Given the description of an element on the screen output the (x, y) to click on. 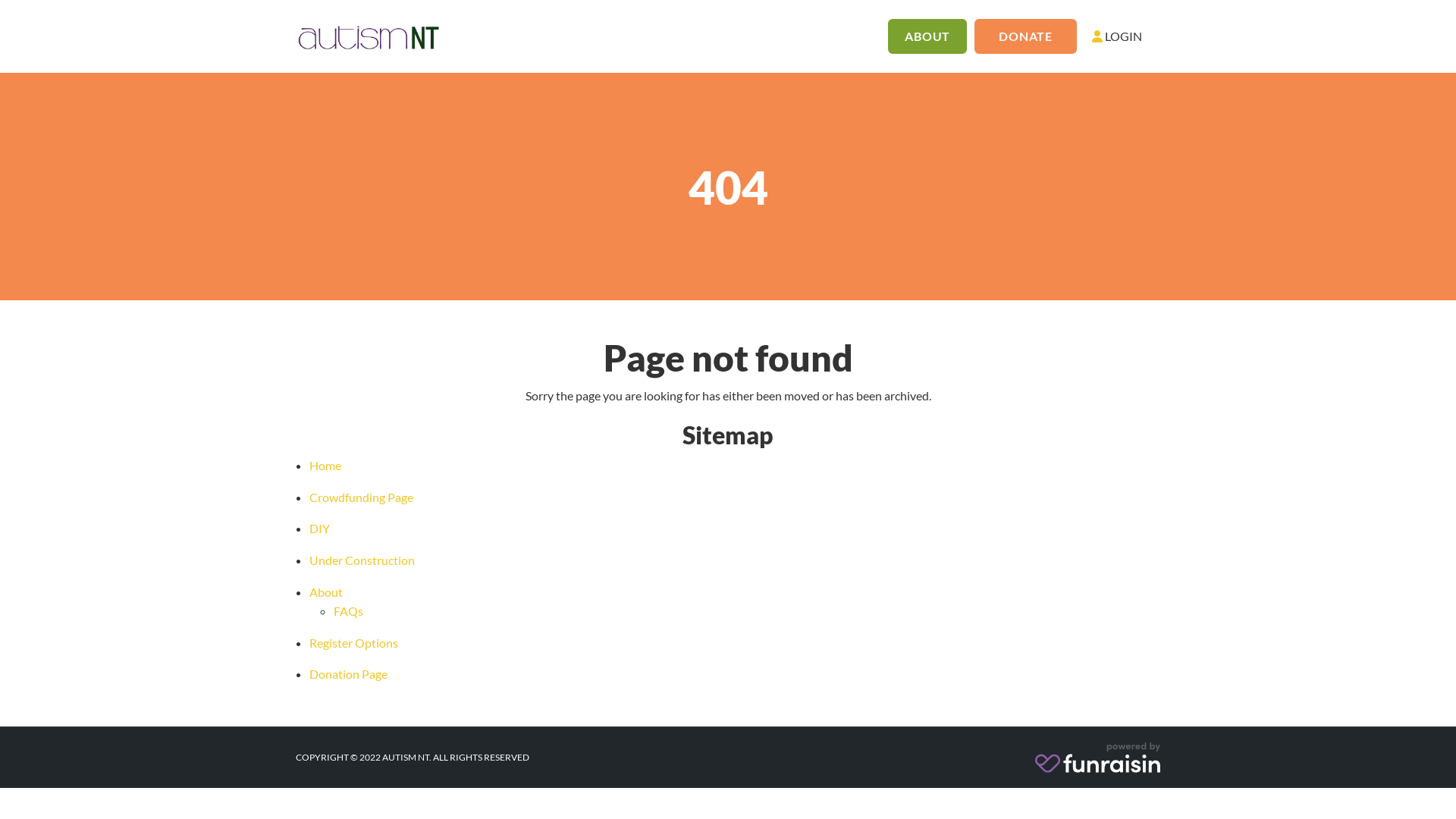
Crowdfunding Page Element type: text (361, 496)
Home Element type: text (325, 465)
About Element type: text (325, 591)
Under Construction Element type: text (361, 559)
Register Options Element type: text (353, 642)
ABOUT Element type: text (927, 35)
DIY Element type: text (319, 527)
DONATE Element type: text (1025, 35)
FAQs Element type: text (348, 610)
LOGIN Element type: text (1116, 36)
Donation Page Element type: text (348, 673)
